Given the description of an element on the screen output the (x, y) to click on. 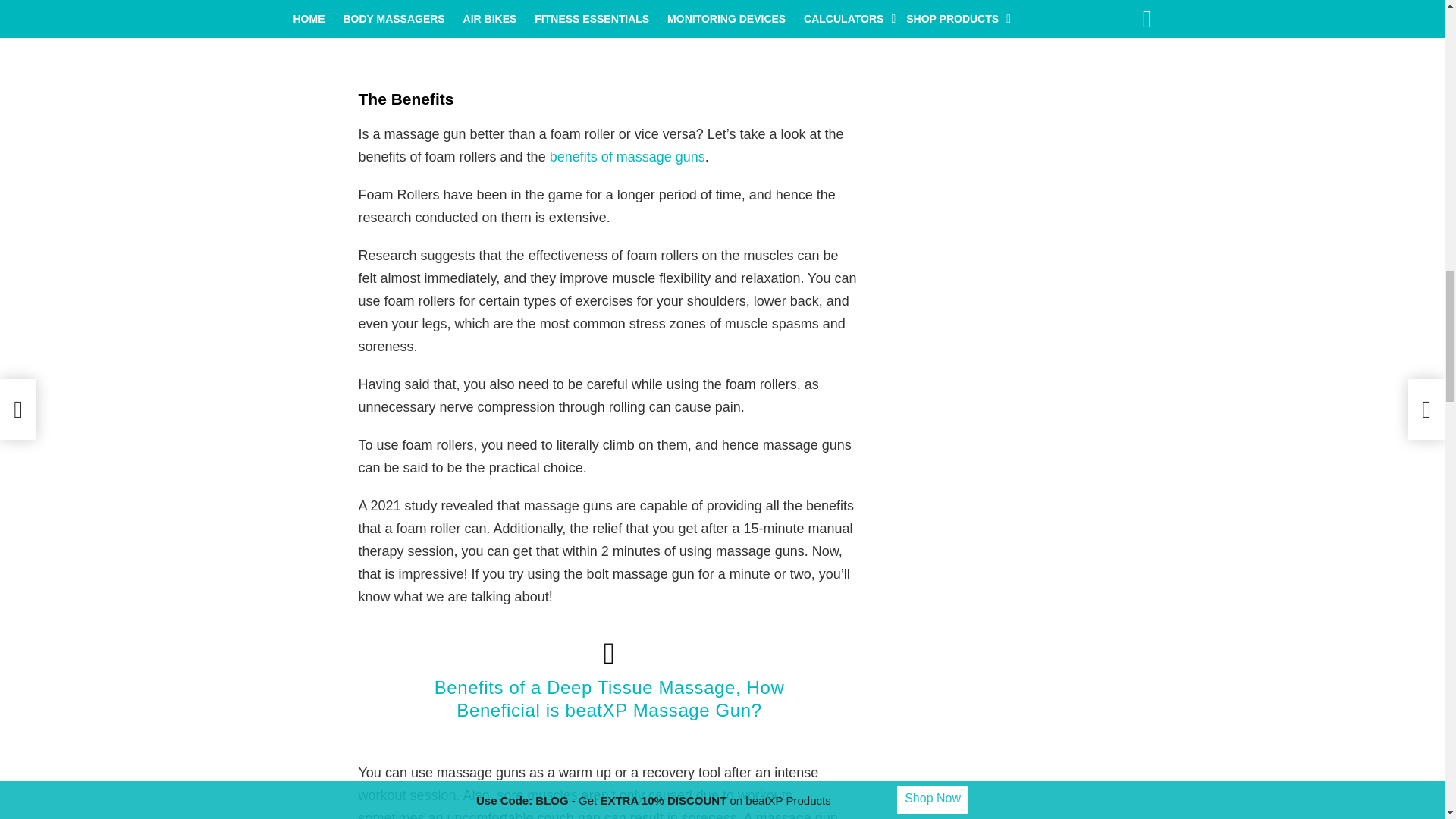
benefits of massage guns (627, 156)
